Given the description of an element on the screen output the (x, y) to click on. 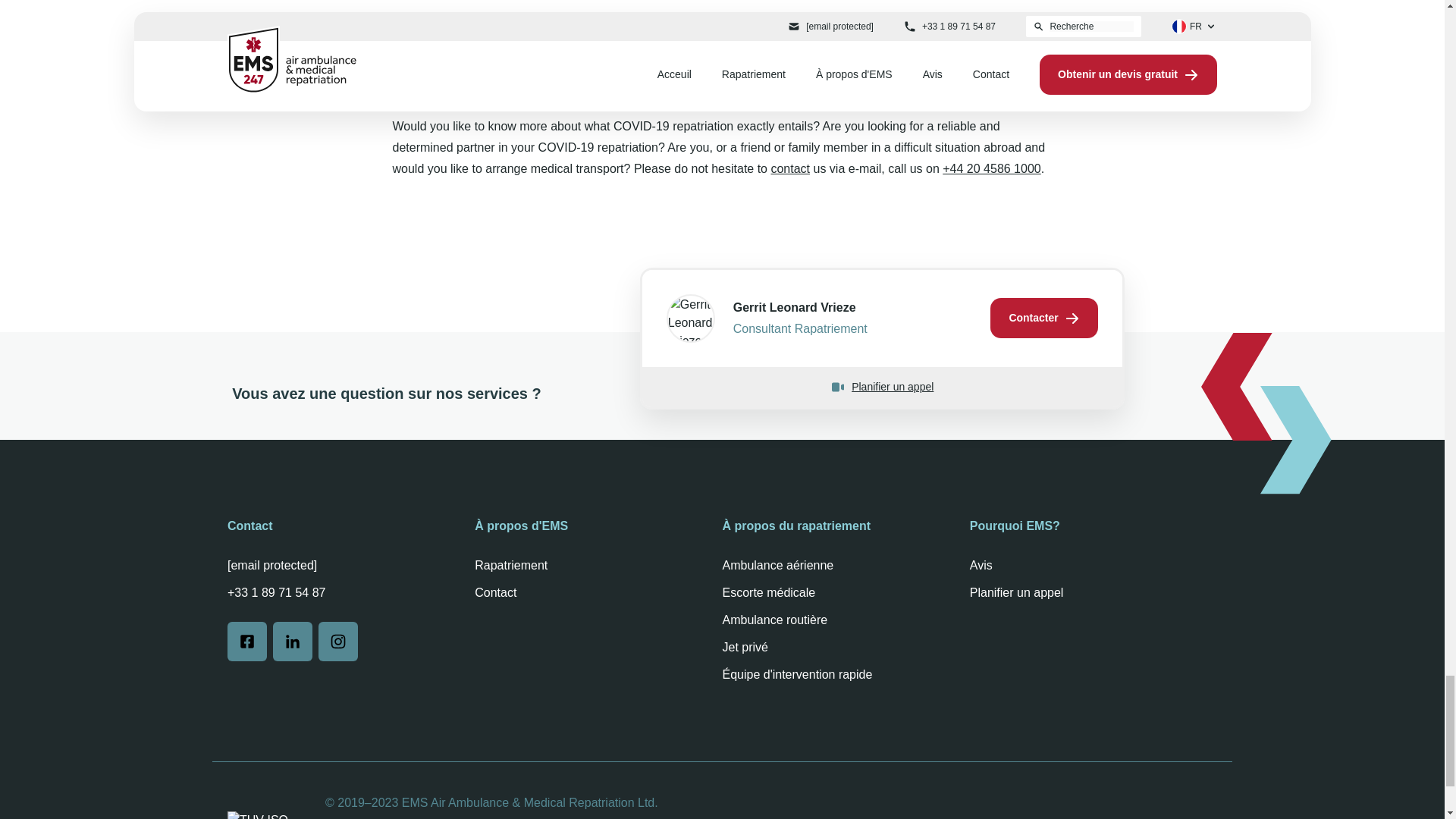
Planifier un appel (881, 386)
Contacter (1043, 318)
contact (789, 168)
